Given the description of an element on the screen output the (x, y) to click on. 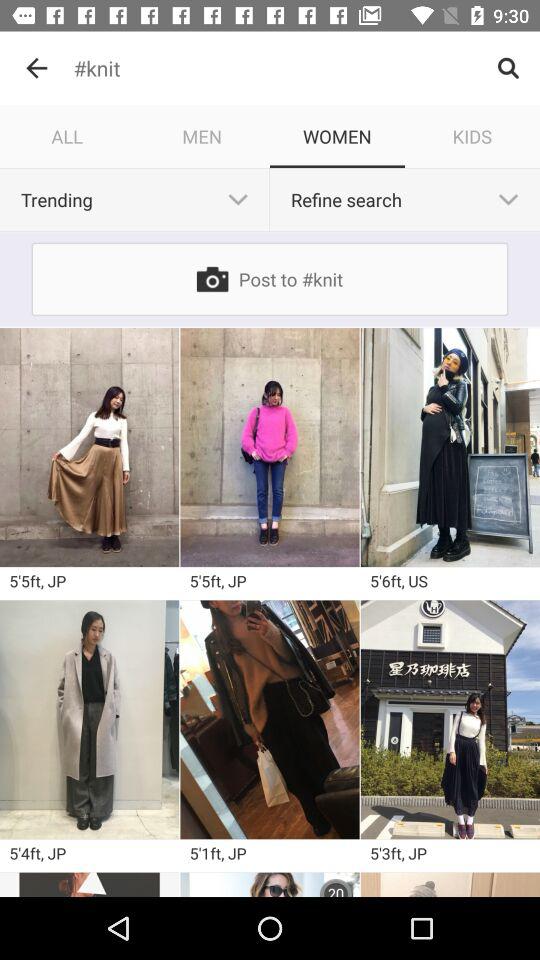
launch icon next to the #knit icon (36, 68)
